Given the description of an element on the screen output the (x, y) to click on. 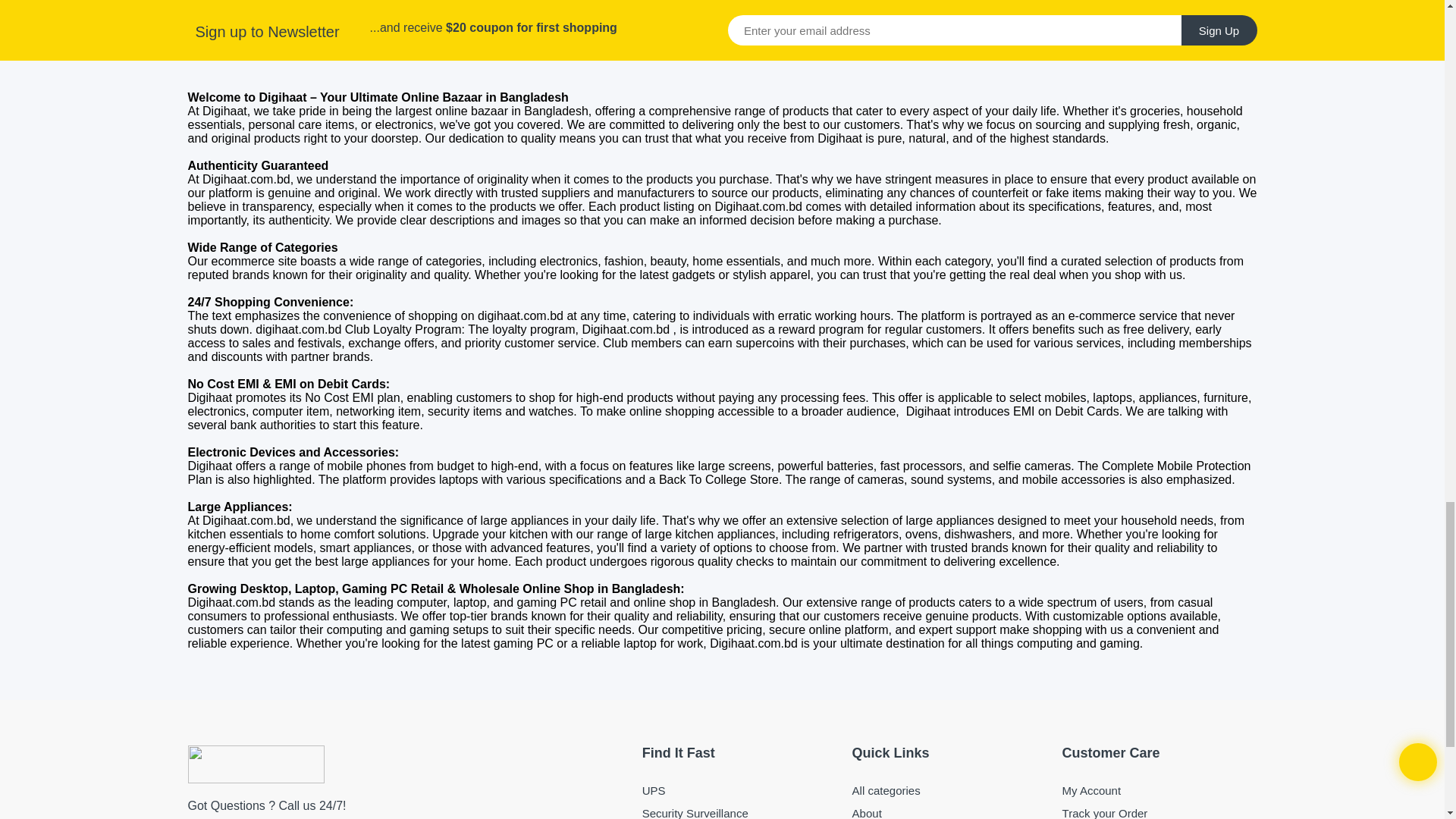
Track your Order (1159, 812)
UPS (739, 790)
Sign Up (1218, 30)
About (948, 812)
My Account (1159, 790)
All categories (948, 790)
Security Surveillance (739, 812)
